Given the description of an element on the screen output the (x, y) to click on. 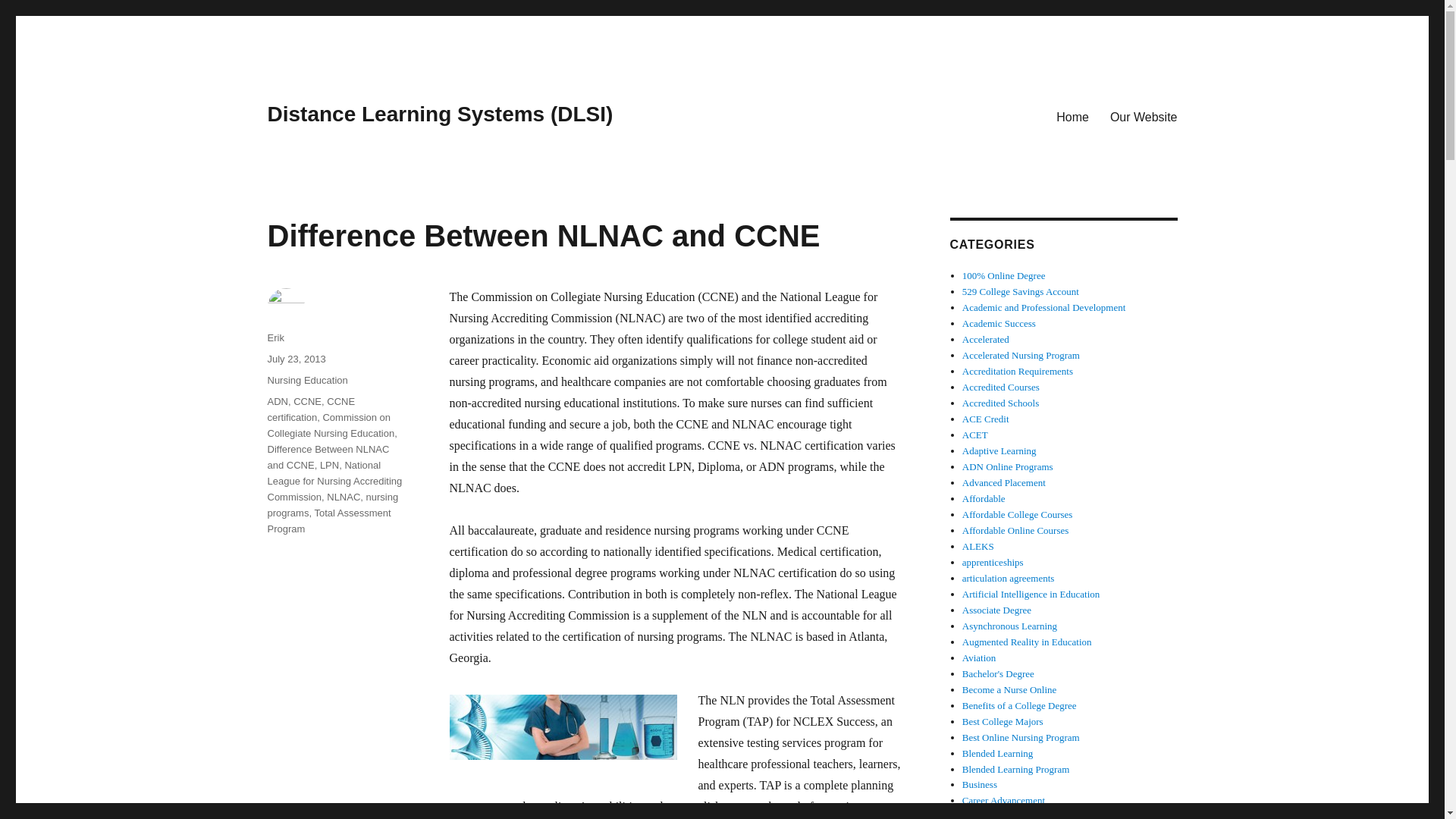
ALEKS (978, 546)
NLNAC (342, 496)
Affordable Online Courses (1015, 530)
Accredited Courses (1000, 387)
CCNE (307, 401)
Difference Between NLNAC and CCNE (327, 456)
529 College Savings Account (1020, 291)
Commission on Collegiate Nursing Education (330, 424)
Affordable (984, 498)
Accreditation Requirements (1017, 370)
Advanced Placement (1003, 482)
Affordable College Courses (1017, 514)
LPN (329, 464)
Total Assessment Program (328, 520)
Academic and Professional Development (1043, 307)
